Given the description of an element on the screen output the (x, y) to click on. 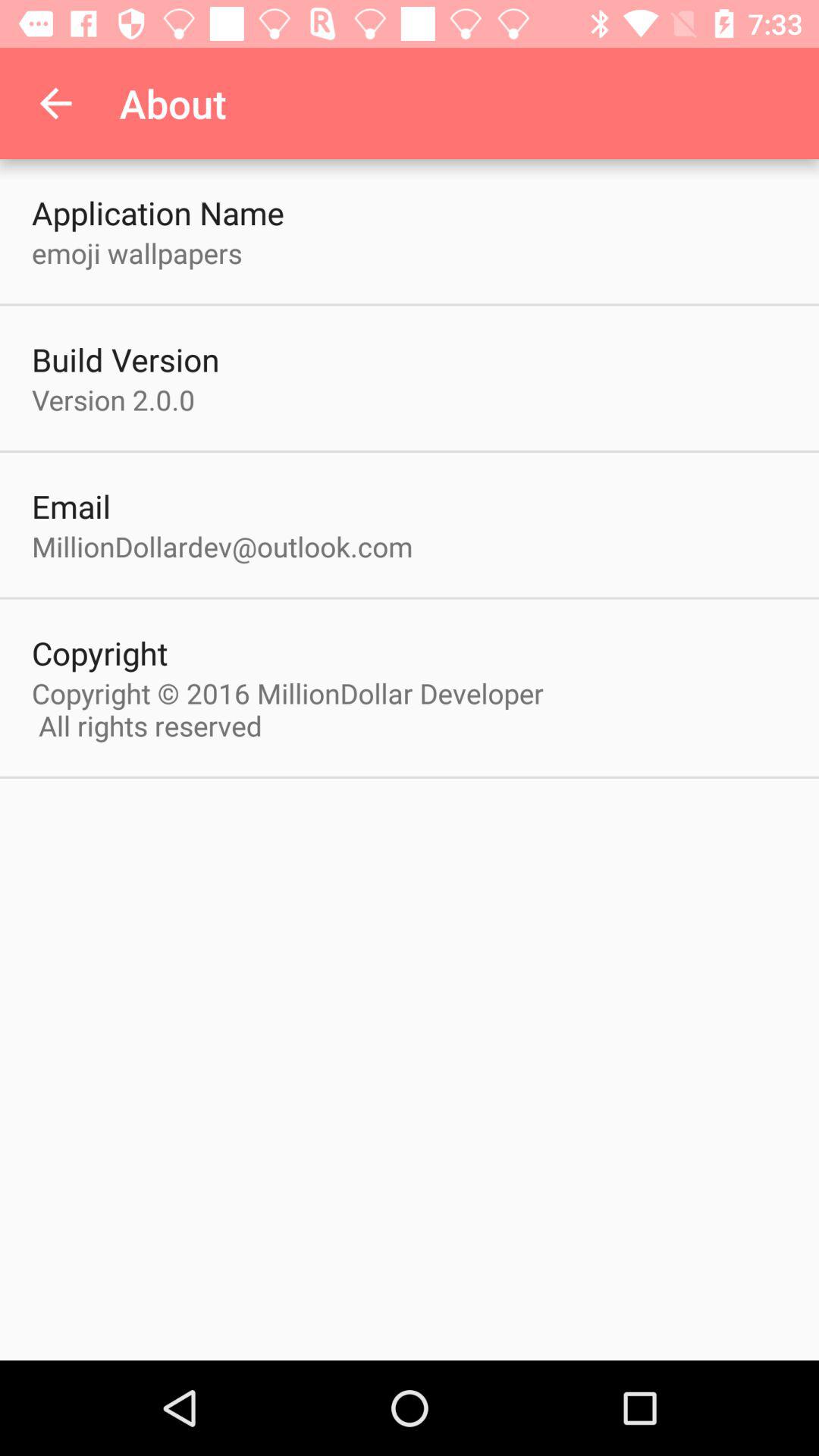
swipe until application name item (157, 212)
